Given the description of an element on the screen output the (x, y) to click on. 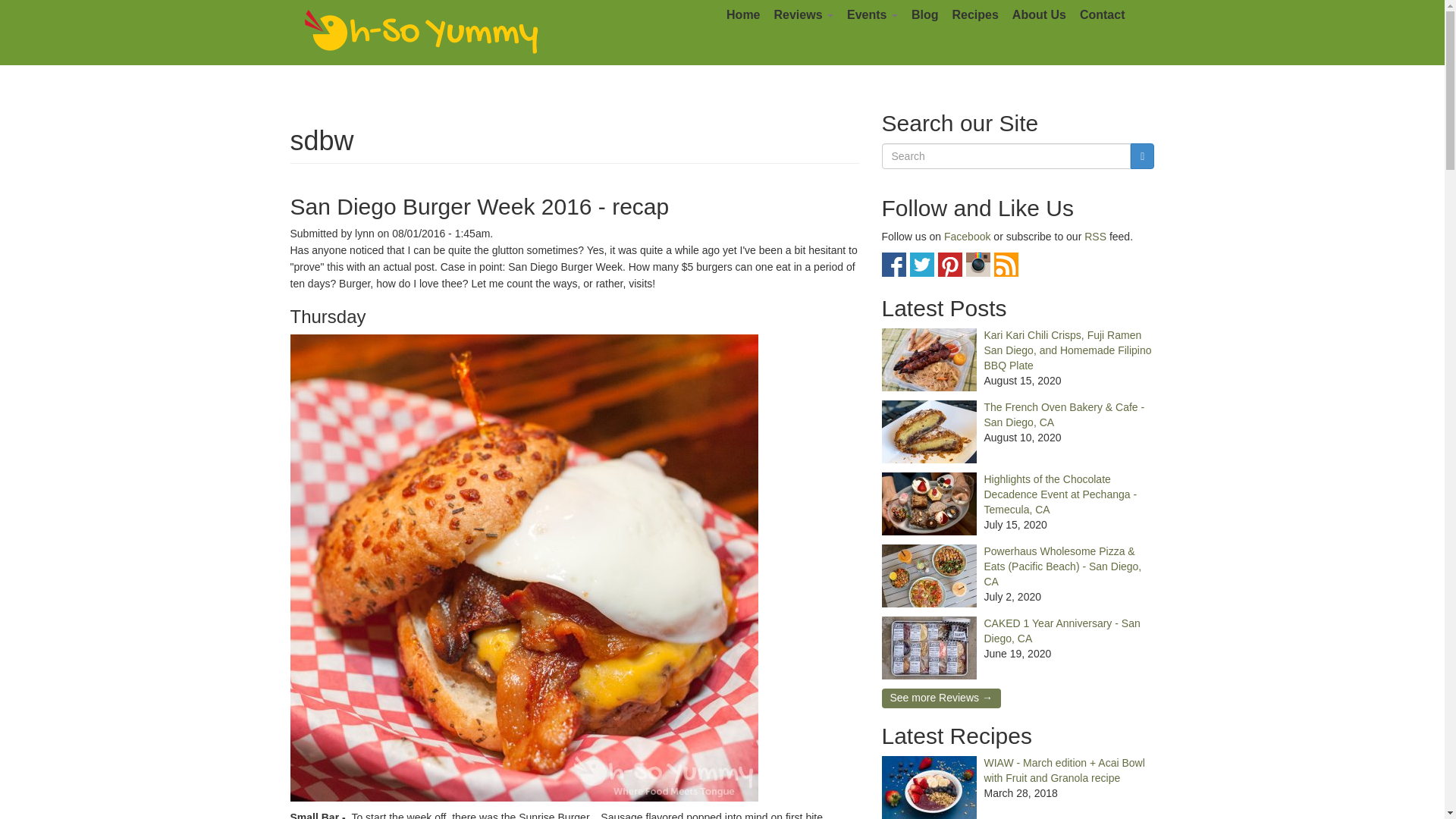
About Us (1039, 15)
RSS (1004, 264)
Reviews (803, 15)
Home (743, 15)
Enter the terms you wish to search for. (1005, 155)
Facebook (892, 264)
Blog (924, 15)
Search (907, 173)
Contact (1102, 15)
Events (872, 15)
Search (907, 173)
Facebook (966, 236)
